Given the description of an element on the screen output the (x, y) to click on. 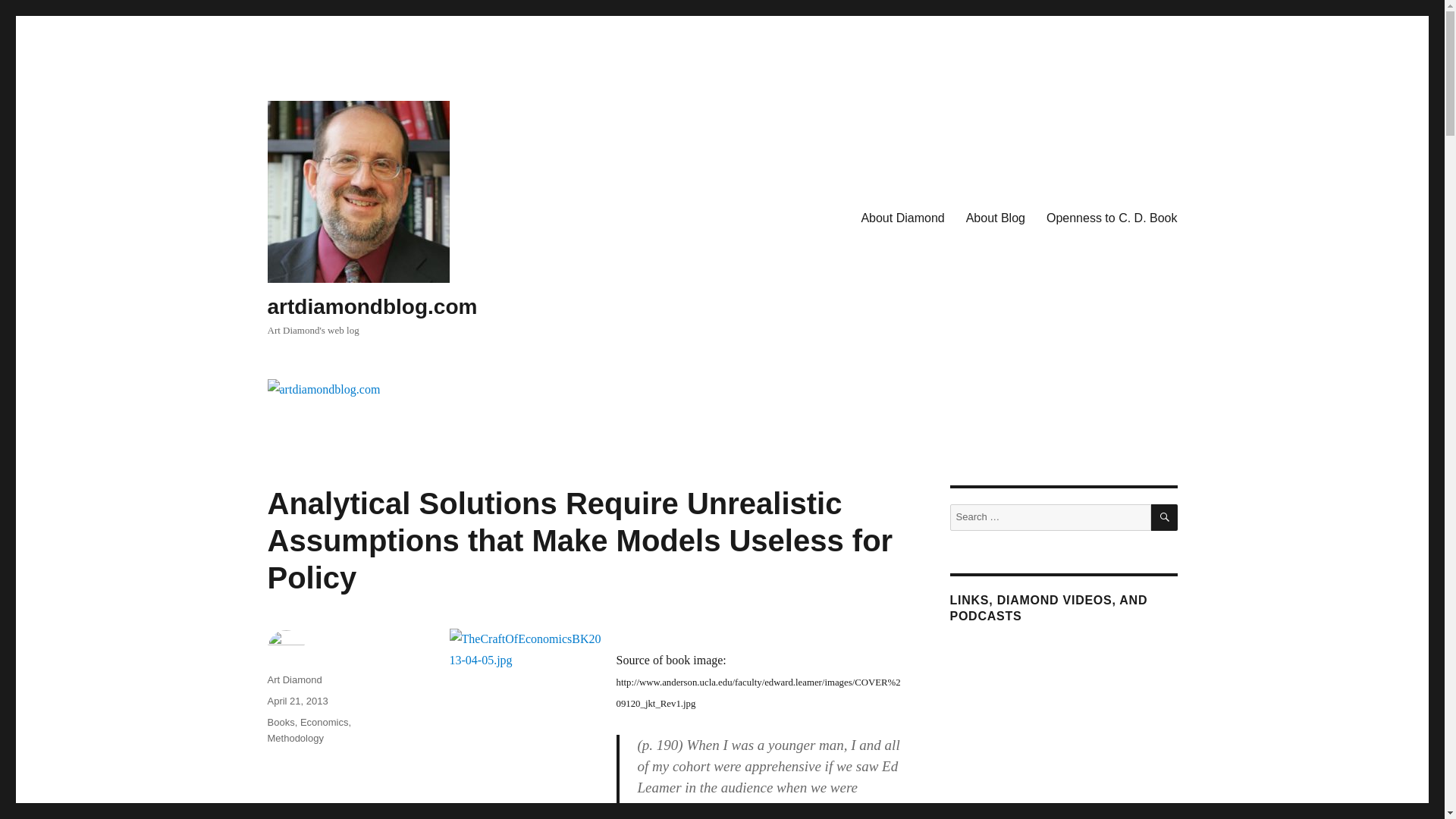
artdiamondblog.com (371, 306)
SEARCH (1164, 517)
Books (280, 722)
Openness to C. D. Book (1111, 218)
Methodology (294, 737)
About Diamond (902, 218)
Economics (324, 722)
Art Diamond (293, 679)
April 21, 2013 (296, 700)
About Blog (995, 218)
